Given the description of an element on the screen output the (x, y) to click on. 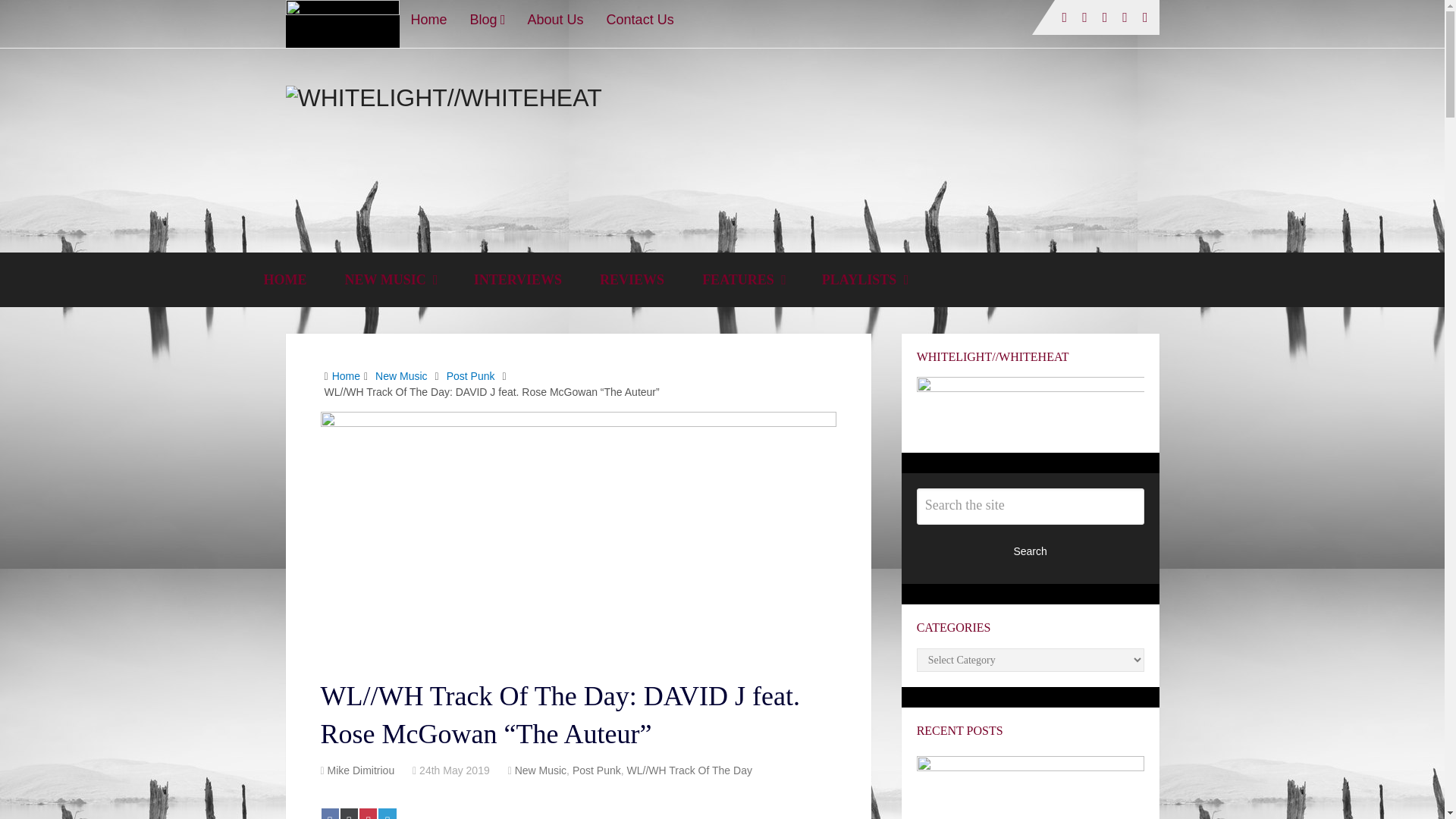
Home (428, 19)
About Us (555, 19)
HOME (284, 279)
Contact Us (640, 19)
REVIEWS (631, 279)
FEATURES (742, 279)
INTERVIEWS (517, 279)
Blog (487, 19)
View all posts in Post Punk (596, 770)
Posts by Mike Dimitriou (360, 770)
